Given the description of an element on the screen output the (x, y) to click on. 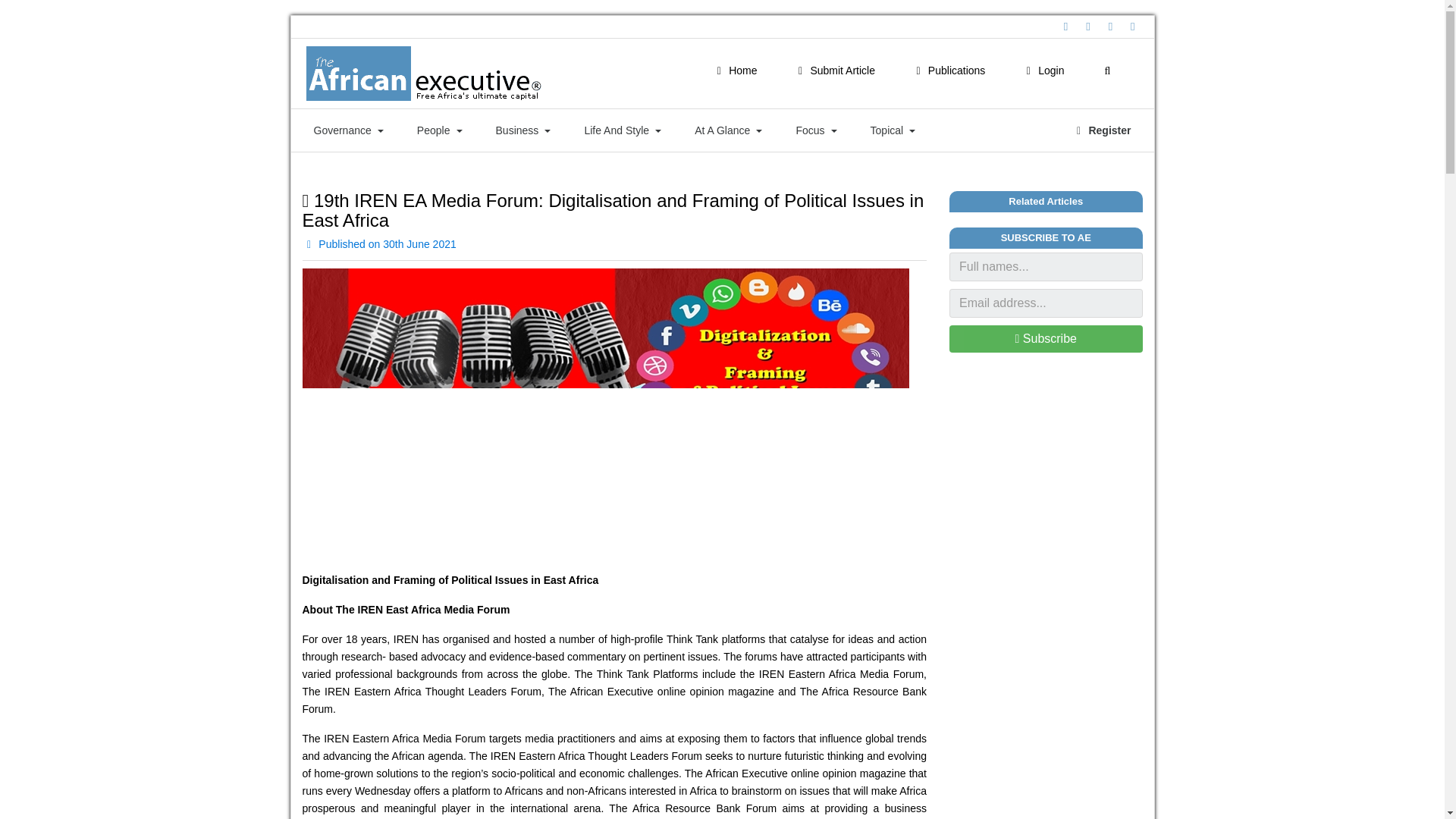
People (439, 130)
At A Glance (728, 130)
Login (1042, 71)
Focus (815, 130)
Governance (348, 130)
Publications (948, 71)
Business (523, 130)
Life And Style (622, 130)
Submit Article (833, 71)
